Given the description of an element on the screen output the (x, y) to click on. 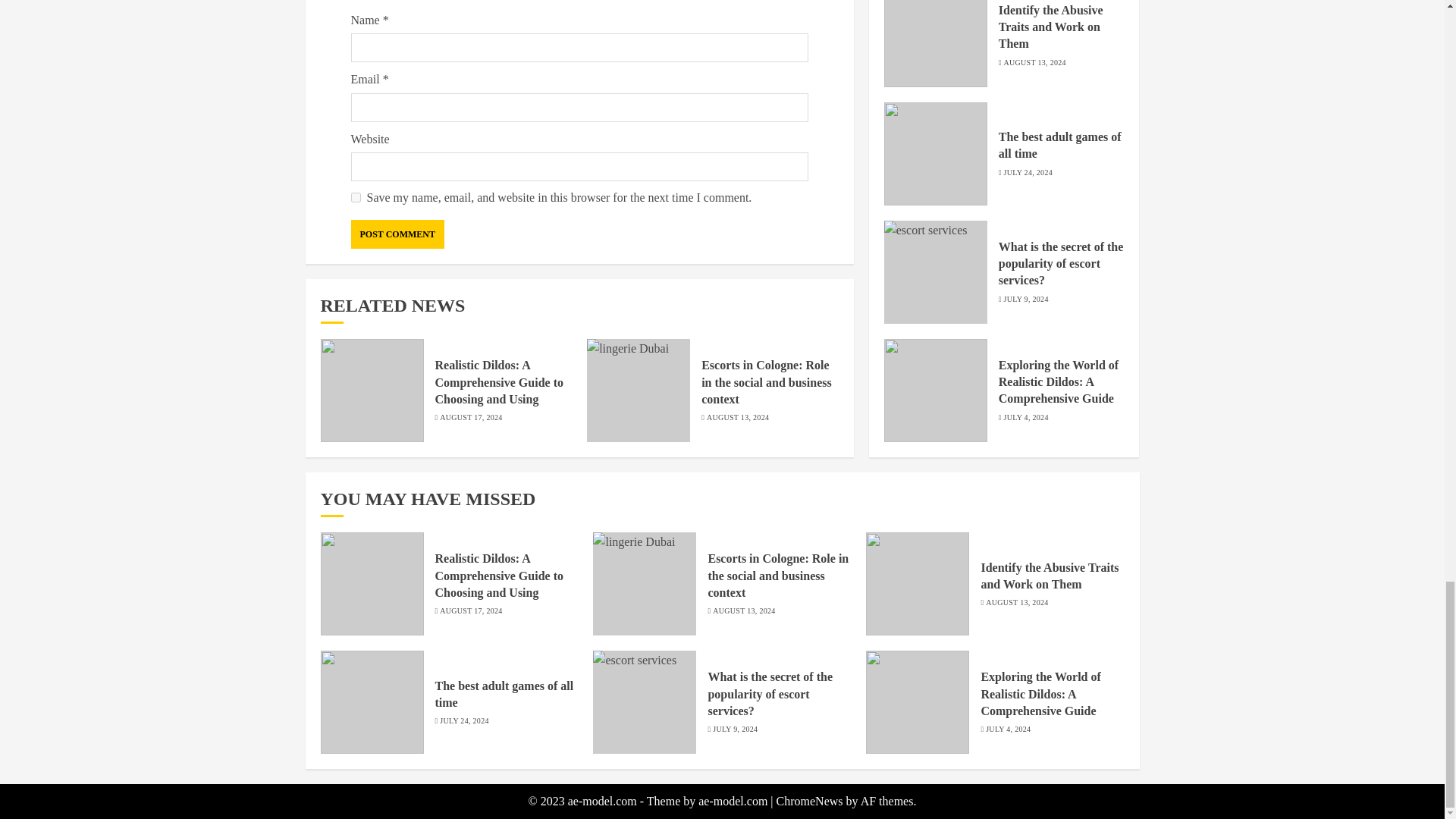
AUGUST 17, 2024 (470, 417)
Escorts in Cologne: Role in the social and business context (766, 382)
AUGUST 13, 2024 (737, 417)
Post Comment (397, 234)
yes (354, 197)
Post Comment (397, 234)
